Given the description of an element on the screen output the (x, y) to click on. 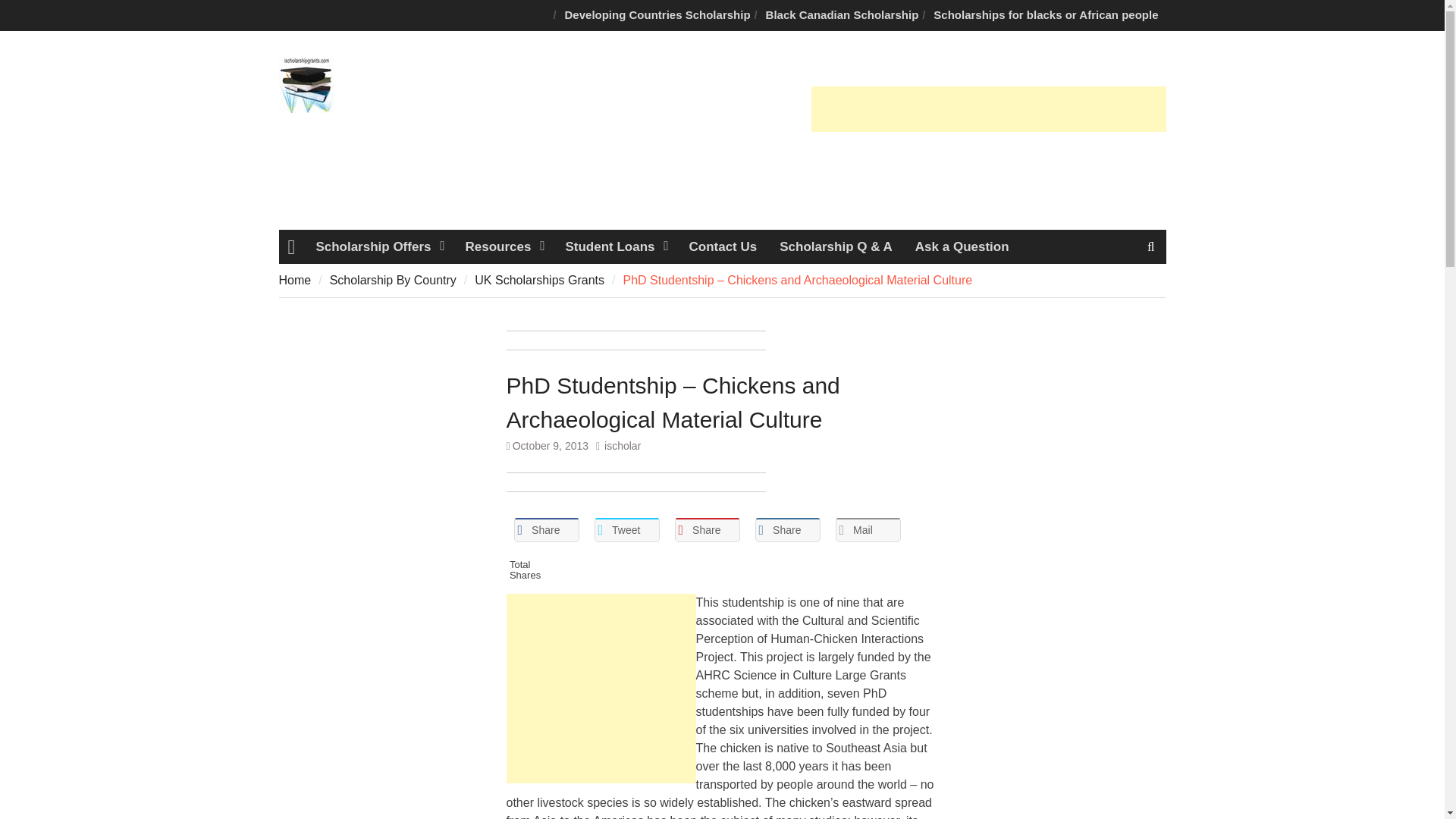
Scholarships for blacks or African people (1046, 15)
Scholarship Offers (378, 246)
Developing Countries Scholarship (657, 15)
Resources (502, 246)
Student Loans (615, 246)
Share on Pinterest (707, 529)
Black Canadian Scholarship (842, 15)
Share it on Email (868, 529)
Share on Facebook (546, 529)
Share on Twitter (626, 529)
